Given the description of an element on the screen output the (x, y) to click on. 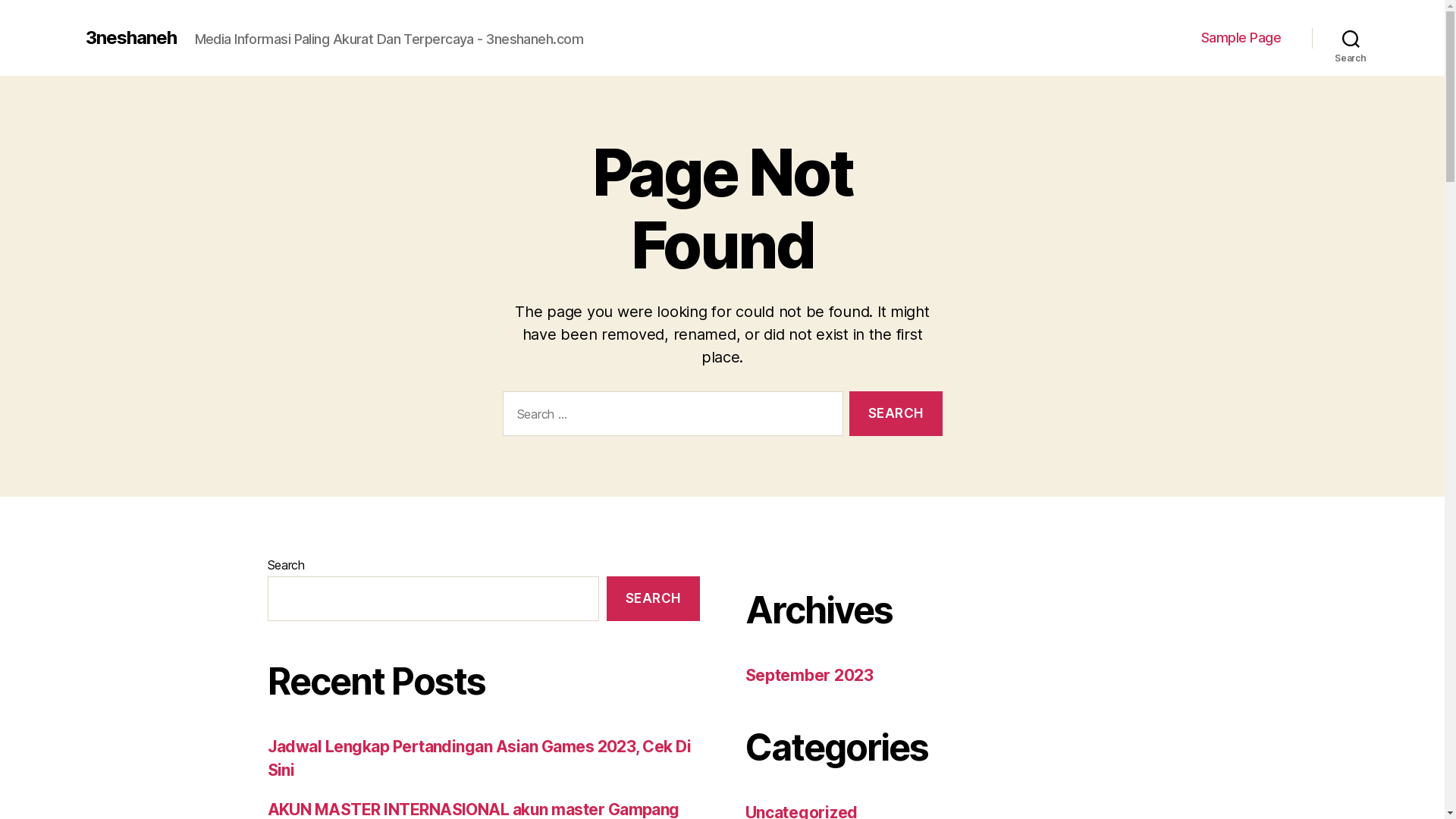
Sample Page Element type: text (1241, 37)
SEARCH Element type: text (652, 598)
3neshaneh Element type: text (129, 37)
Search Element type: text (895, 413)
Jadwal Lengkap Pertandingan Asian Games 2023, Cek Di Sini Element type: text (478, 758)
Search Element type: text (1350, 37)
September 2023 Element type: text (808, 674)
